Given the description of an element on the screen output the (x, y) to click on. 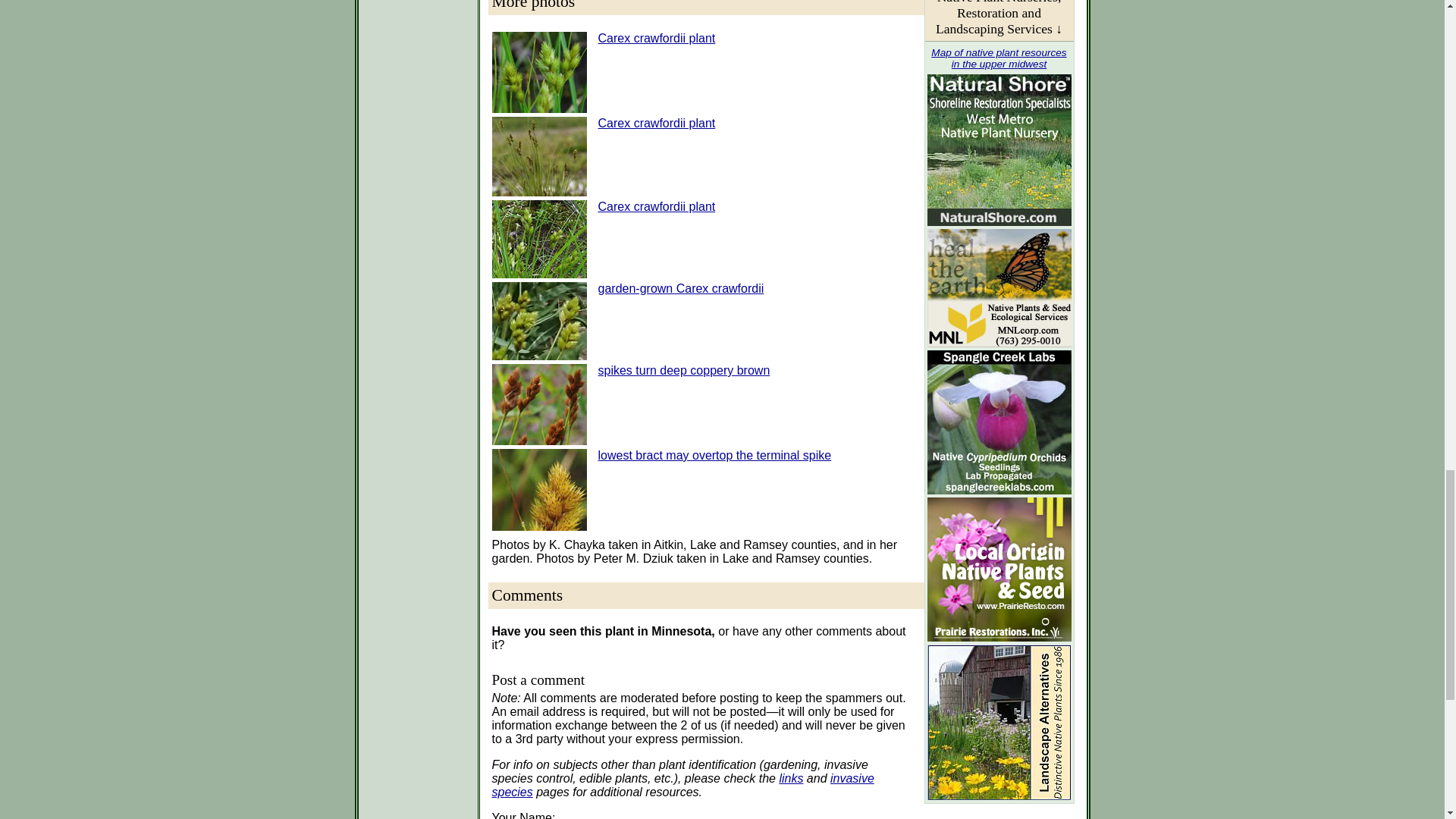
 Carex crawfordii plant (655, 38)
invasive species (682, 785)
lowest bract may overtop the terminal spike (713, 454)
Map of native plant resources in the upper midwest (998, 57)
 Carex crawfordii plant (655, 205)
Carex crawfordii plant (655, 123)
Carex crawfordii plant (655, 38)
 spikes turn deep coppery brown (683, 369)
 Carex crawfordii plant (655, 123)
garden-grown Carex crawfordii (679, 287)
